Given the description of an element on the screen output the (x, y) to click on. 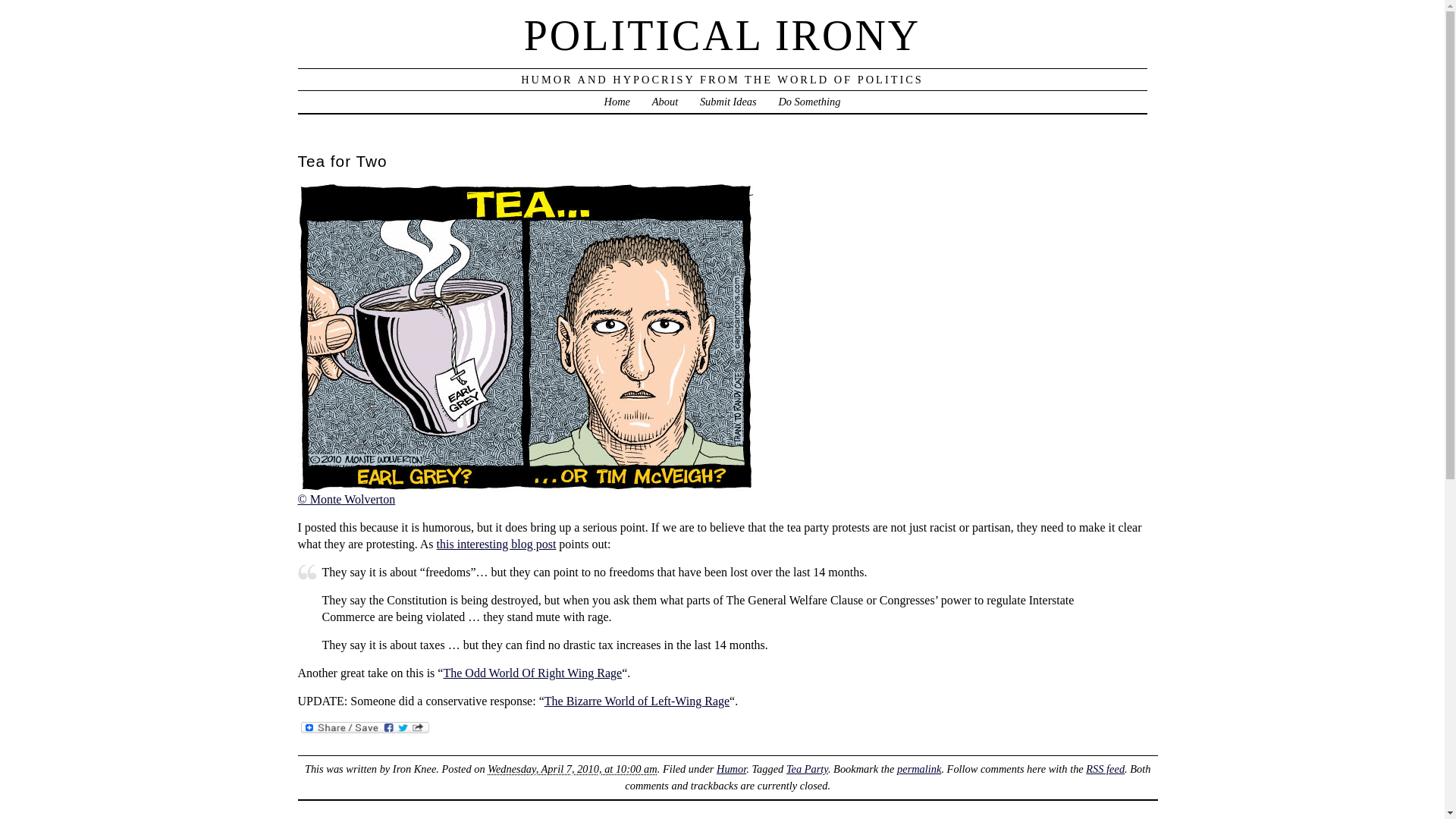
permalink (918, 768)
Submit Ideas (728, 101)
2010-04-07T10:00:44-0600 (571, 768)
Comments RSS to Tea for Two (1105, 768)
The Bizarre World of Left-Wing Rage (636, 700)
POLITICAL IRONY (722, 35)
Political Irony (617, 101)
Permalink to Tea for Two (918, 768)
Humor (730, 768)
Tea Party (807, 768)
About (665, 101)
this interesting blog post (496, 543)
Home (617, 101)
RSS feed (1105, 768)
